Given the description of an element on the screen output the (x, y) to click on. 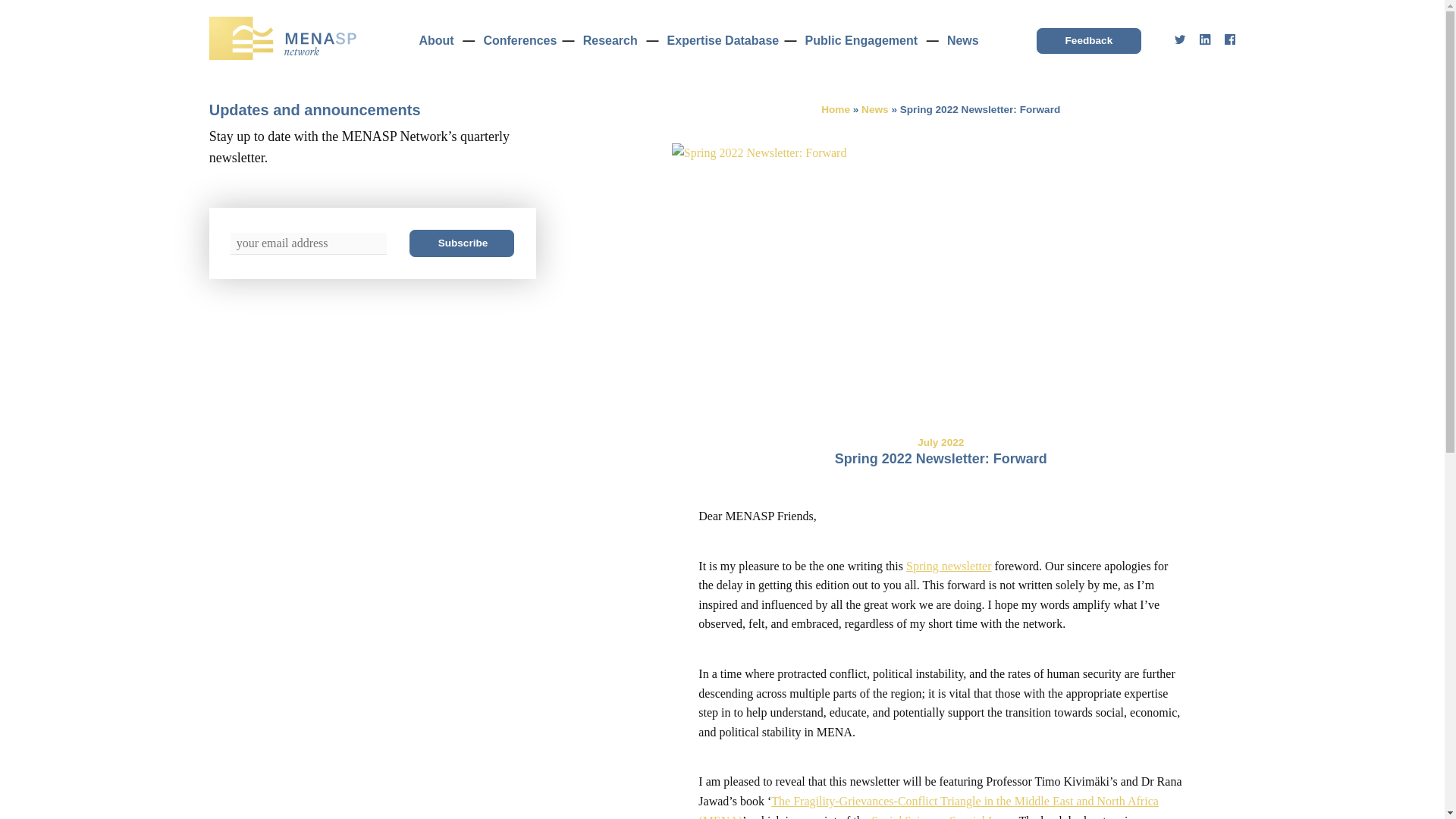
Facebook icon (1230, 39)
Social Sciences Special Issue (941, 816)
LinkedIn icon (1204, 39)
Research (610, 40)
Twitter icon (1179, 39)
Subscribe (461, 243)
About (435, 40)
Home (940, 490)
Spring newsletter (835, 109)
